Given the description of an element on the screen output the (x, y) to click on. 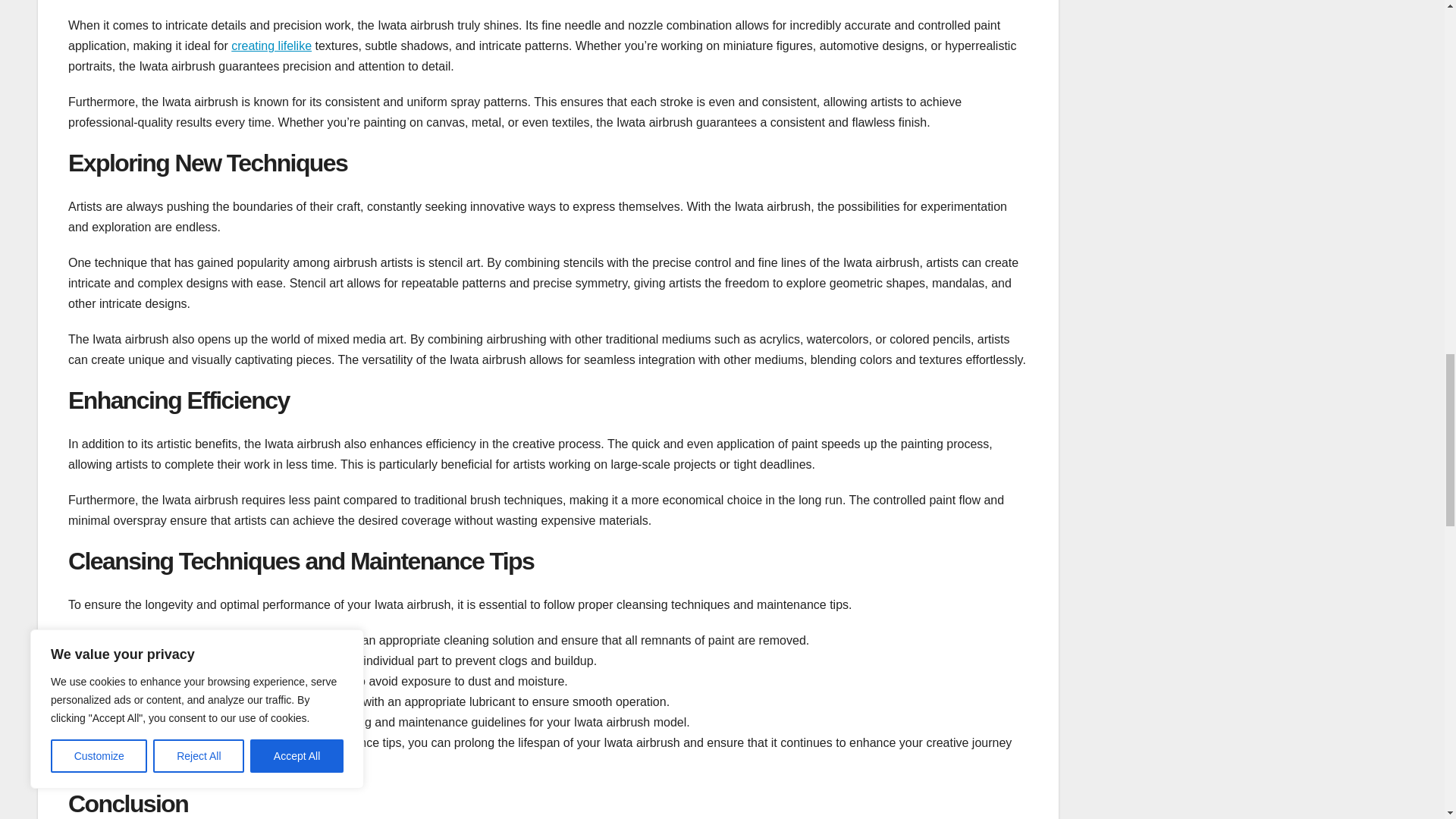
cleansing techniques (225, 742)
creating lifelike (271, 45)
Regularly disassemble (145, 660)
